Given the description of an element on the screen output the (x, y) to click on. 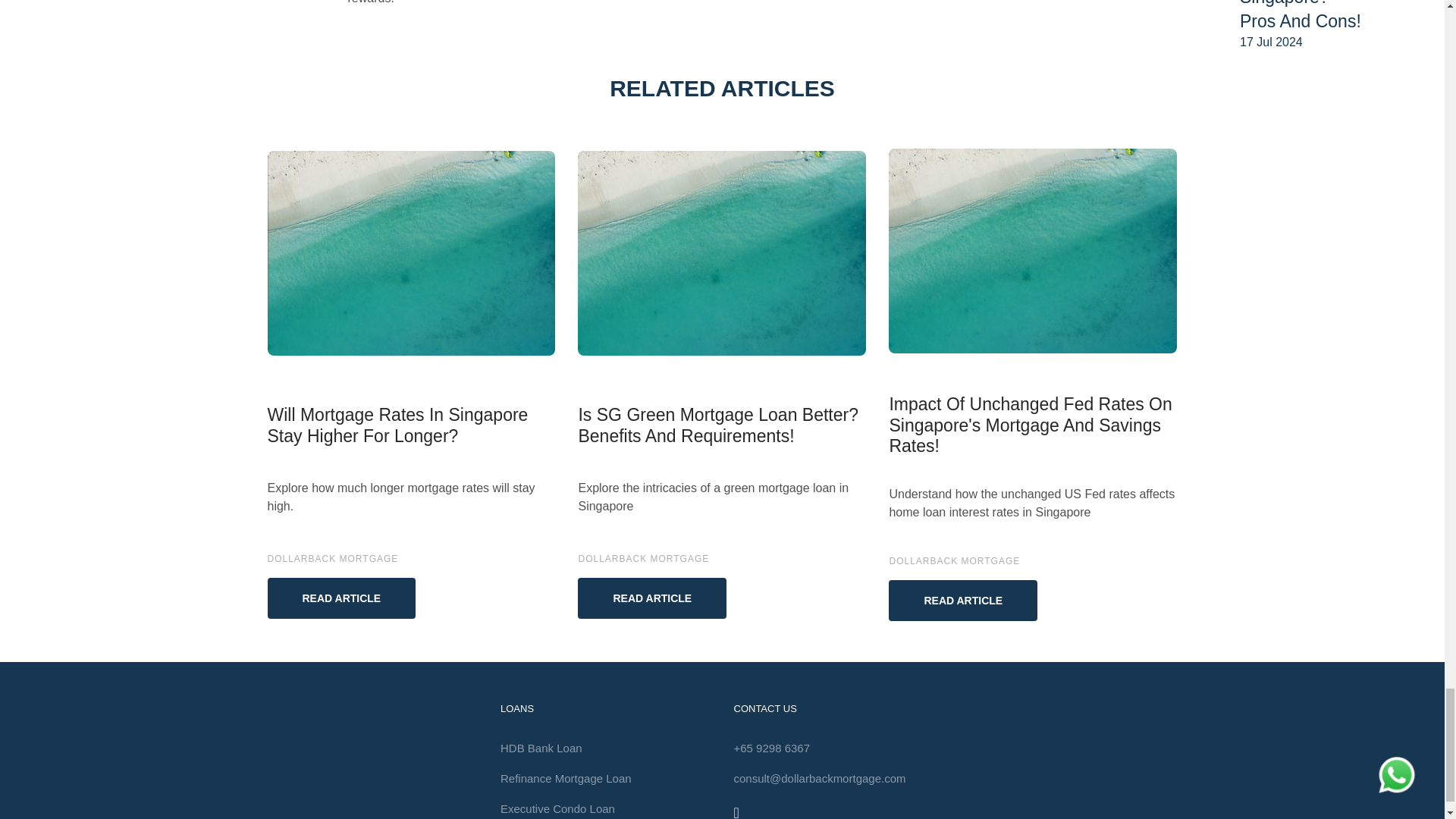
READ ARTICLE (340, 598)
